Given the description of an element on the screen output the (x, y) to click on. 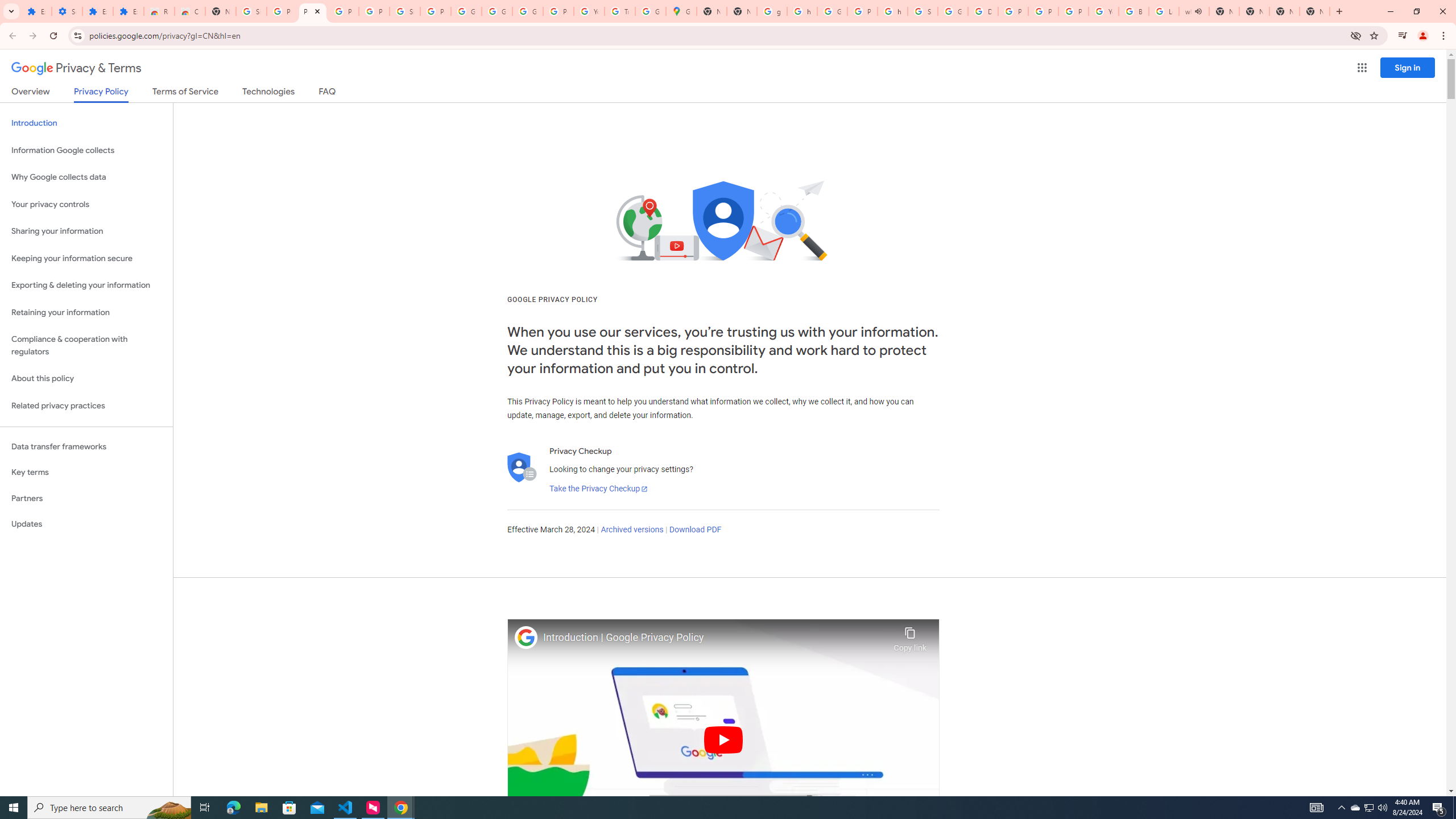
Chrome Web Store - Themes (189, 11)
Mute tab (1197, 10)
Download PDF (695, 529)
New Tab (1314, 11)
New Tab (1283, 11)
New Tab (220, 11)
Privacy Help Center - Policies Help (1012, 11)
https://scholar.google.com/ (801, 11)
